Given the description of an element on the screen output the (x, y) to click on. 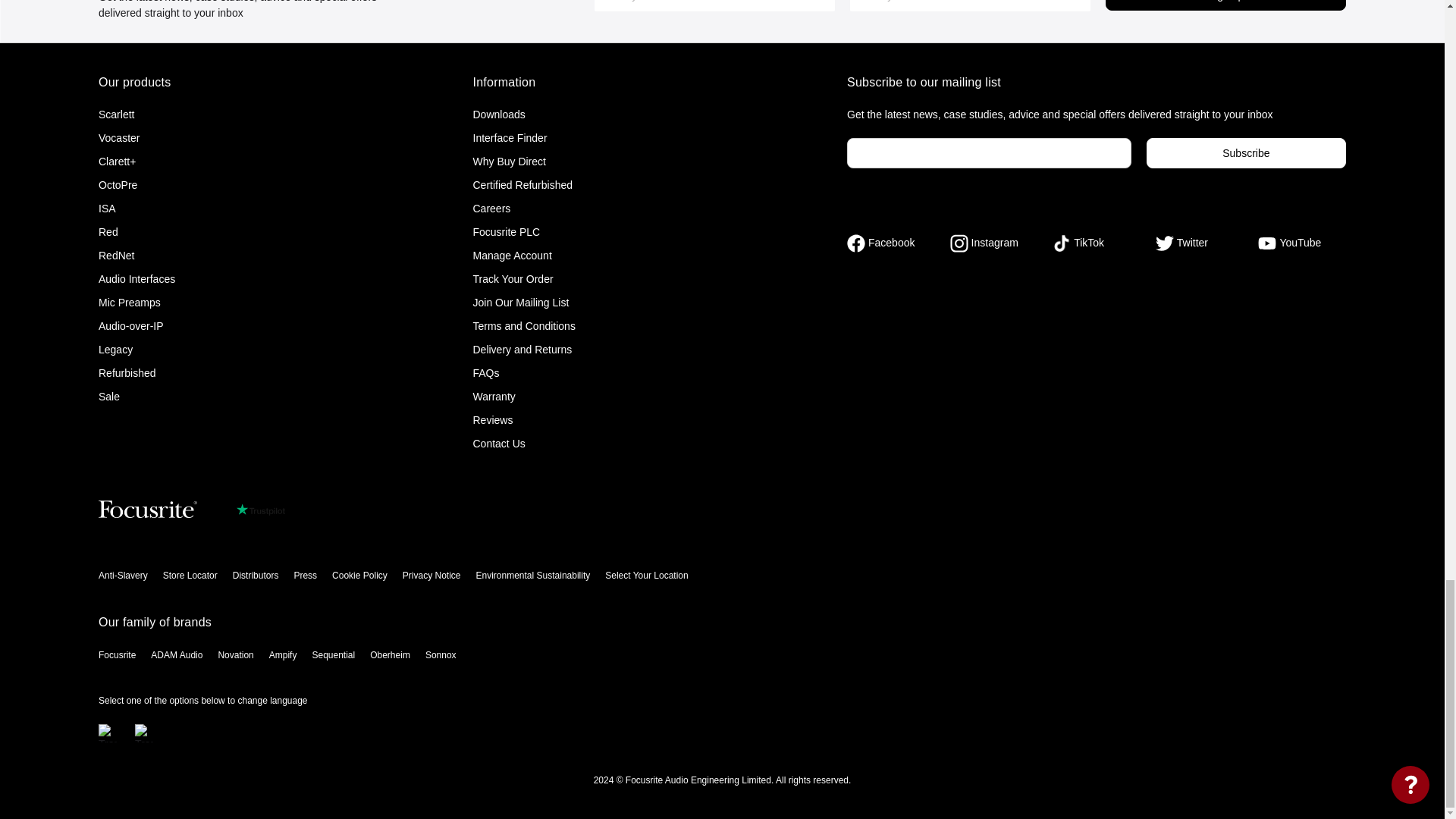
Subscribe (1246, 153)
Sign up (1225, 5)
